Given the description of an element on the screen output the (x, y) to click on. 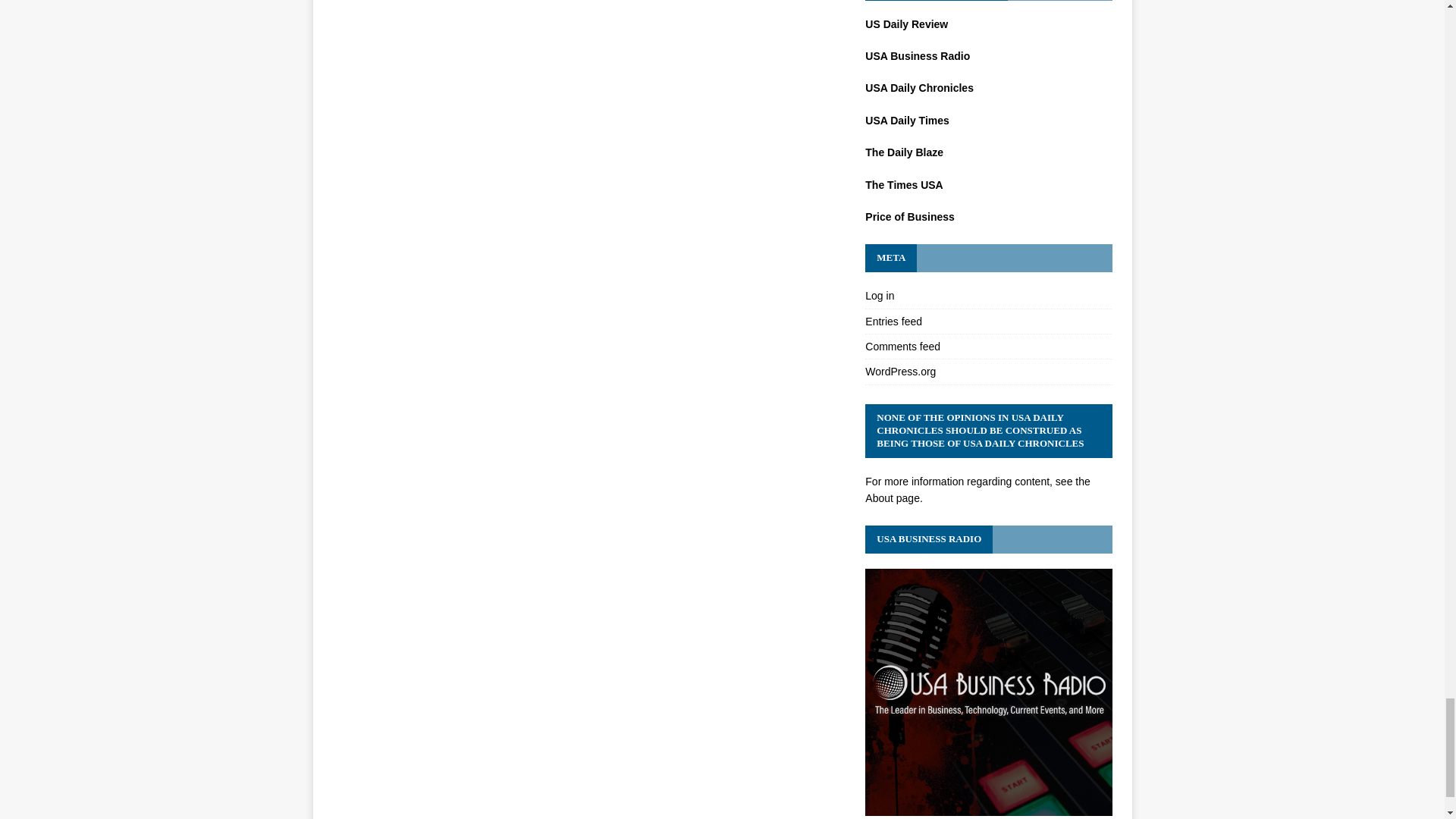
USA Business Radio (988, 807)
